Given the description of an element on the screen output the (x, y) to click on. 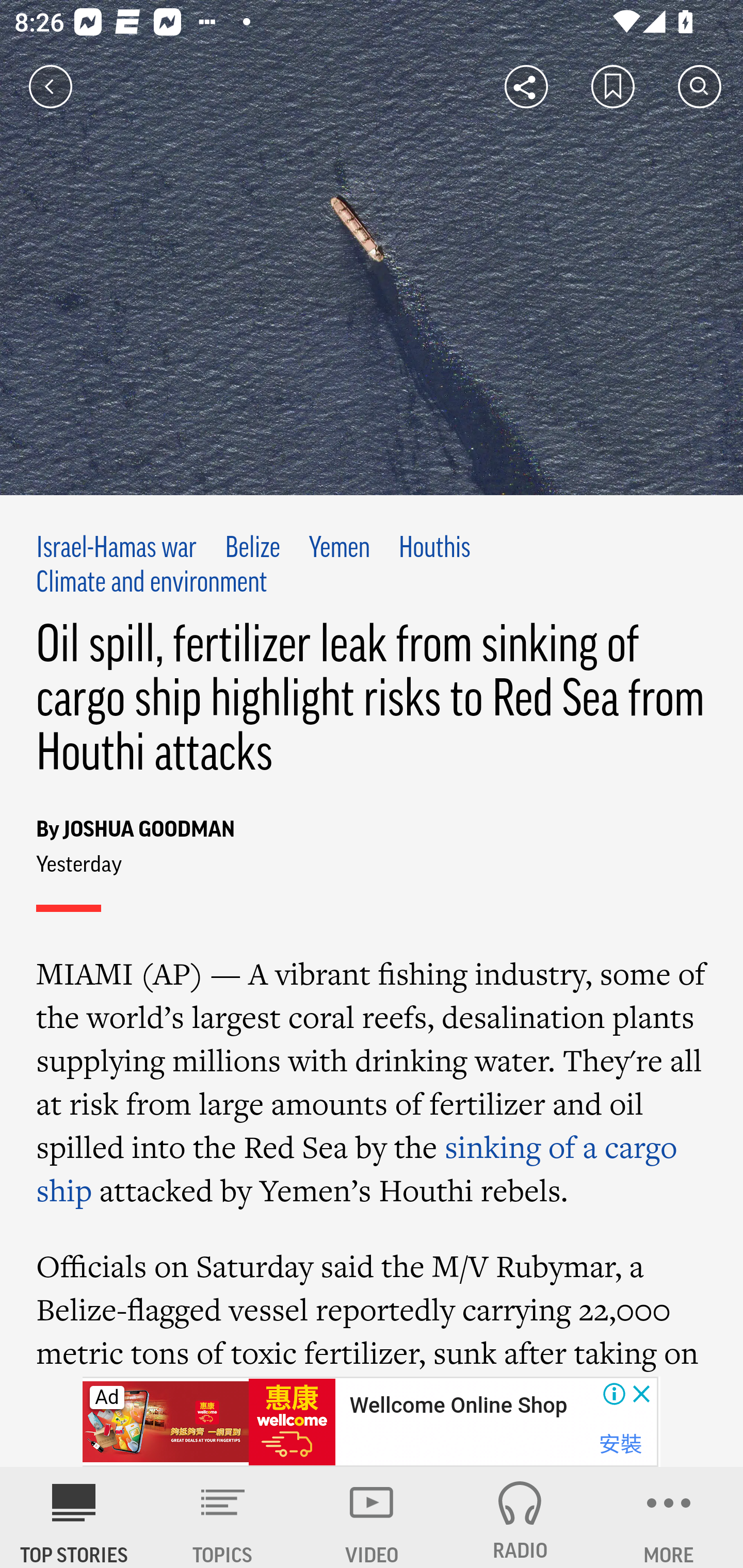
Israel-Hamas war (117, 549)
Belize (252, 549)
Yemen (339, 549)
Houthis (434, 549)
Climate and environment (151, 584)
sinking of a cargo ship (357, 1168)
Wellcome Online Shop (457, 1405)
安裝 (620, 1444)
AP News TOP STORIES (74, 1517)
TOPICS (222, 1517)
VIDEO (371, 1517)
RADIO (519, 1517)
MORE (668, 1517)
